Given the description of an element on the screen output the (x, y) to click on. 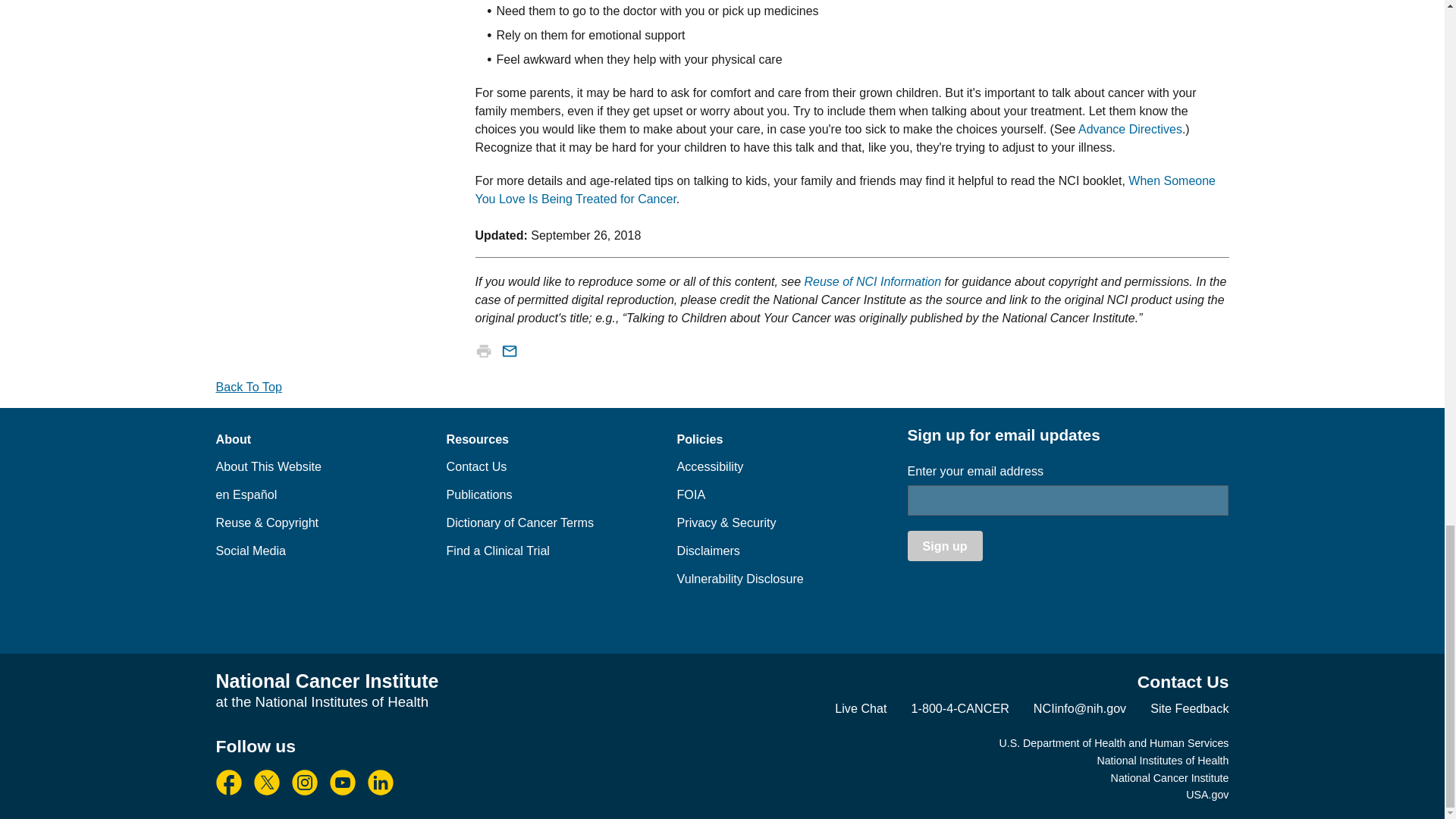
When Someone You Love Is Being Treated for Cancer (844, 189)
Reuse of NCI Information (873, 281)
Advance Directives (1130, 128)
About This Website (268, 466)
Back To Top (248, 386)
